Given the description of an element on the screen output the (x, y) to click on. 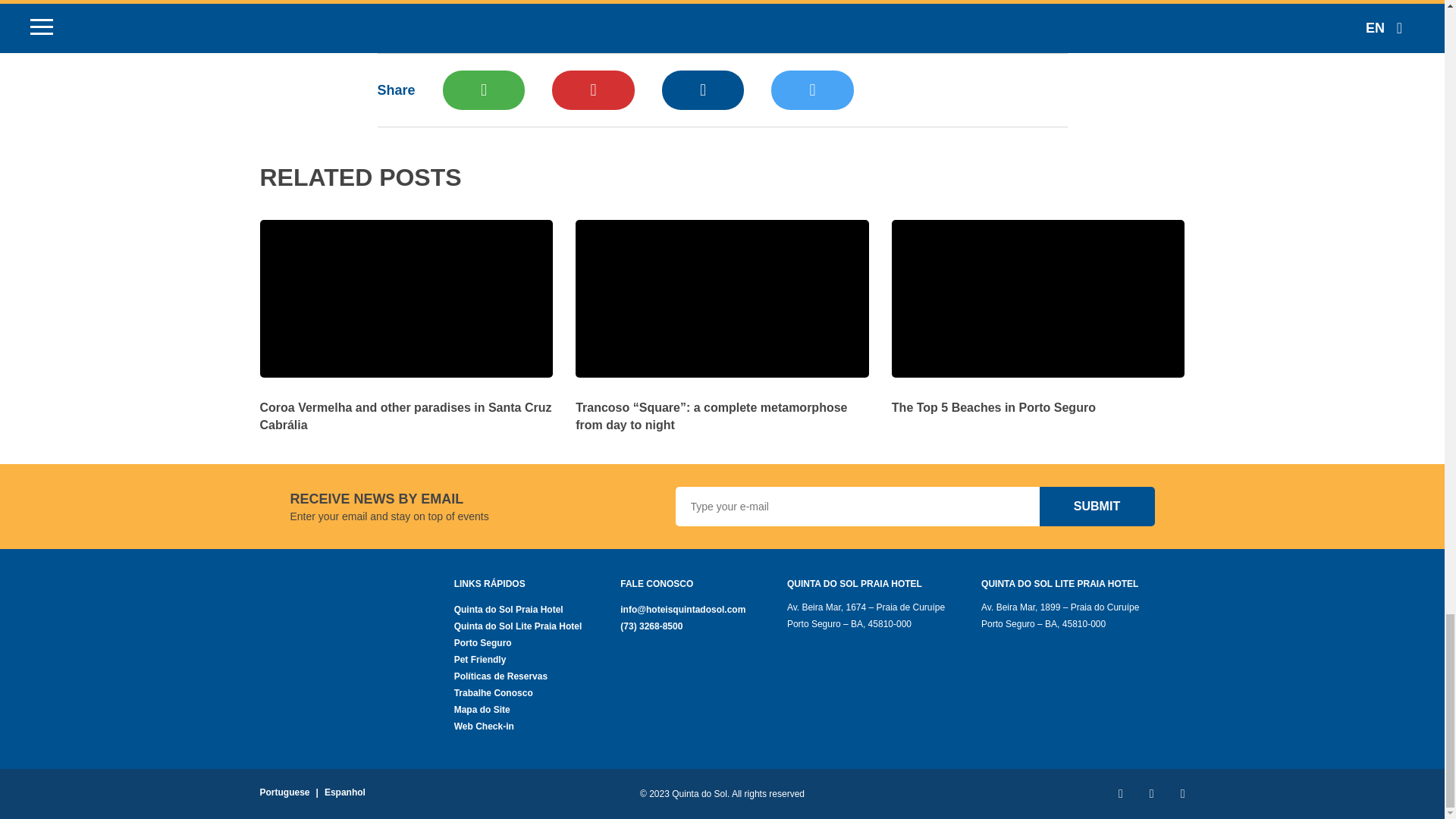
Facebook (703, 89)
Pinterest (592, 89)
The Top 5 Beaches in Porto Seguro (1038, 397)
Saiba mais (406, 406)
Saiba mais (1038, 397)
WhatsApp (483, 89)
Saiba mais (722, 406)
Submit (1096, 506)
Twitter (812, 89)
Submit (1096, 506)
Quinta do Sol Praia Hotel (537, 609)
